Given the description of an element on the screen output the (x, y) to click on. 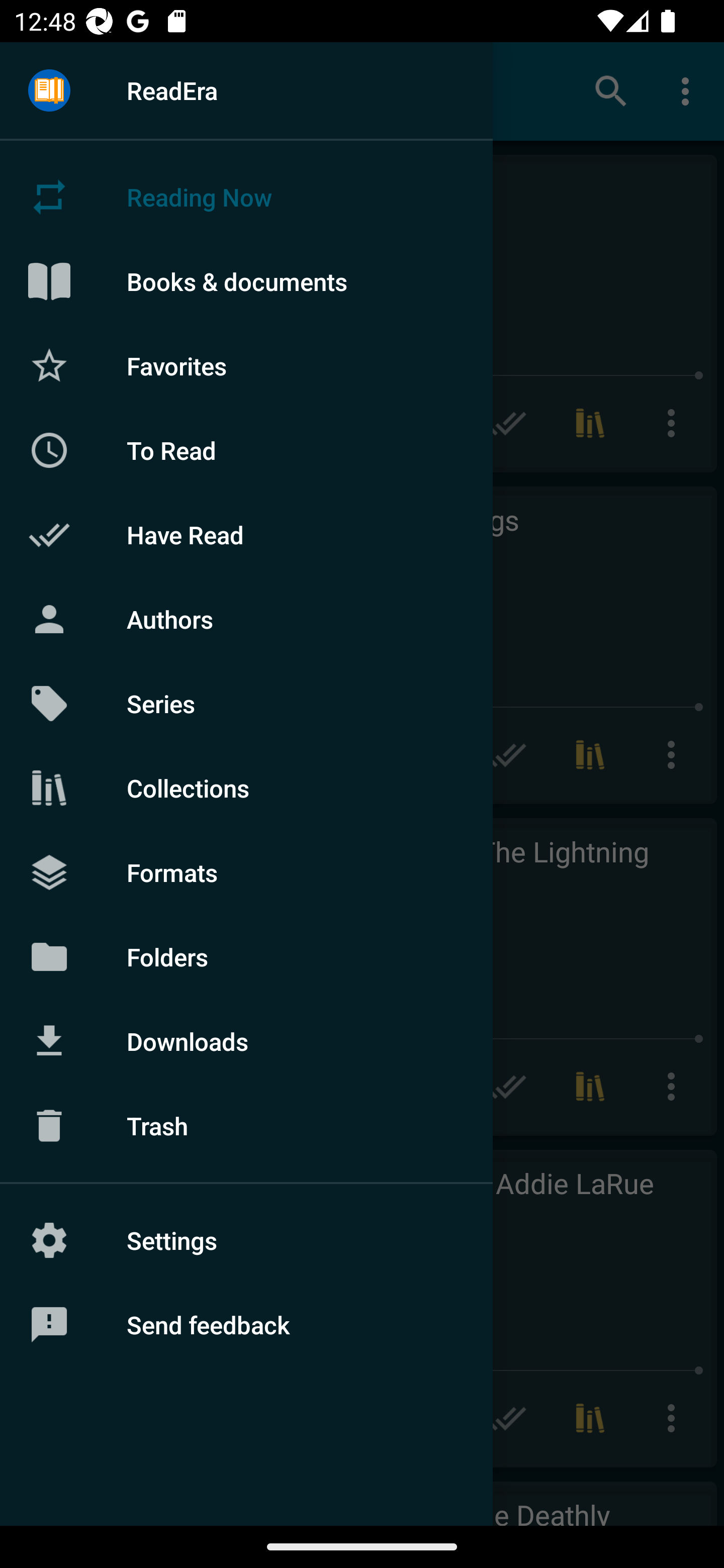
Menu (49, 91)
ReadEra (246, 89)
Search books & documents (611, 90)
More options (688, 90)
Reading Now (246, 197)
Books & documents (246, 281)
Favorites (246, 365)
To Read (246, 449)
Have Read (246, 534)
Authors (246, 619)
Series (246, 703)
Collections (246, 787)
Formats (246, 871)
Folders (246, 956)
Downloads (246, 1040)
Trash (246, 1125)
Settings (246, 1239)
Send feedback (246, 1324)
